Given the description of an element on the screen output the (x, y) to click on. 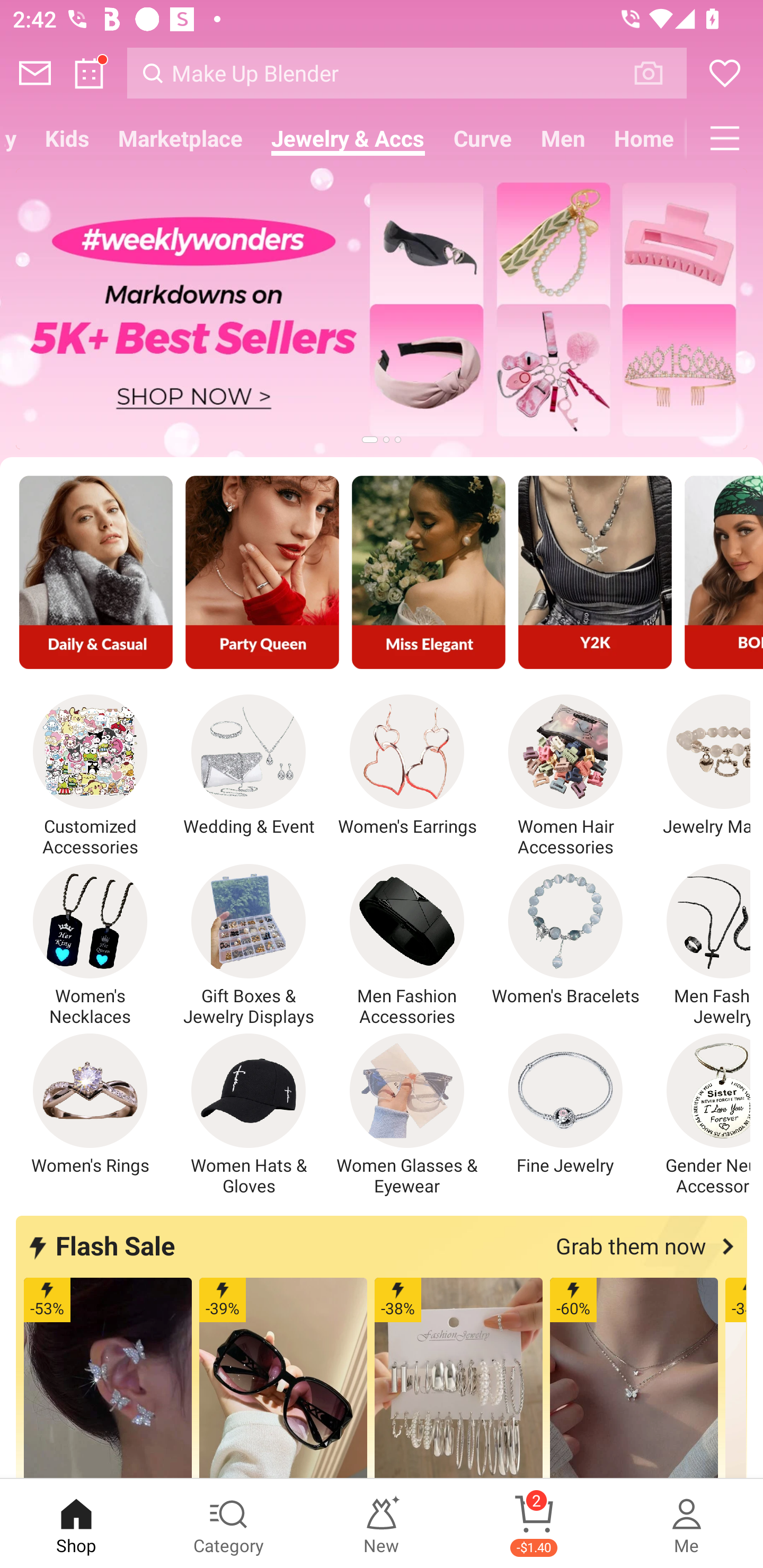
Wishlist (724, 72)
VISUAL SEARCH (657, 72)
Kids (66, 137)
Marketplace (180, 137)
Jewelry & Accs (348, 137)
Curve (482, 137)
Men (562, 137)
Home (642, 137)
Customized Accessories (89, 775)
Wedding & Event (248, 765)
Women's Earrings (406, 765)
Women Hair Accessories (565, 775)
Jewelry Making (698, 765)
Women's Necklaces (89, 945)
Gift Boxes & Jewelry Displays (248, 945)
Men Fashion Accessories (406, 945)
Women's Bracelets (565, 934)
Men Fashion Jewelry (698, 945)
Women's Rings (89, 1104)
Women Hats & Gloves (248, 1114)
Women Glasses & Eyewear (406, 1114)
Fine Jewelry (565, 1104)
Gender Neutral Accessories (698, 1114)
Category (228, 1523)
New (381, 1523)
Cart 2 -$1.40 (533, 1523)
Me (686, 1523)
